Given the description of an element on the screen output the (x, y) to click on. 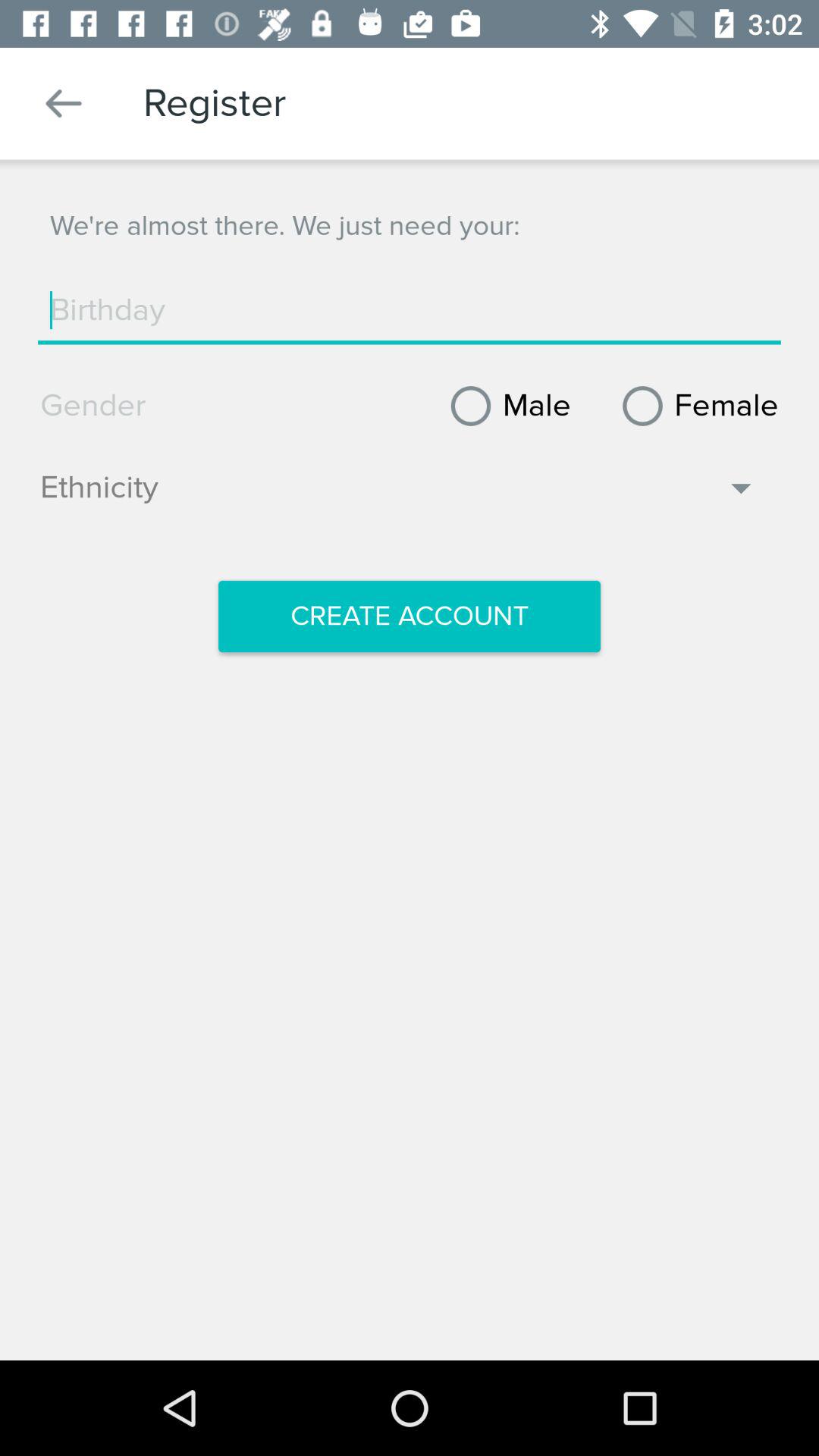
press item above the create account item (399, 494)
